Given the description of an element on the screen output the (x, y) to click on. 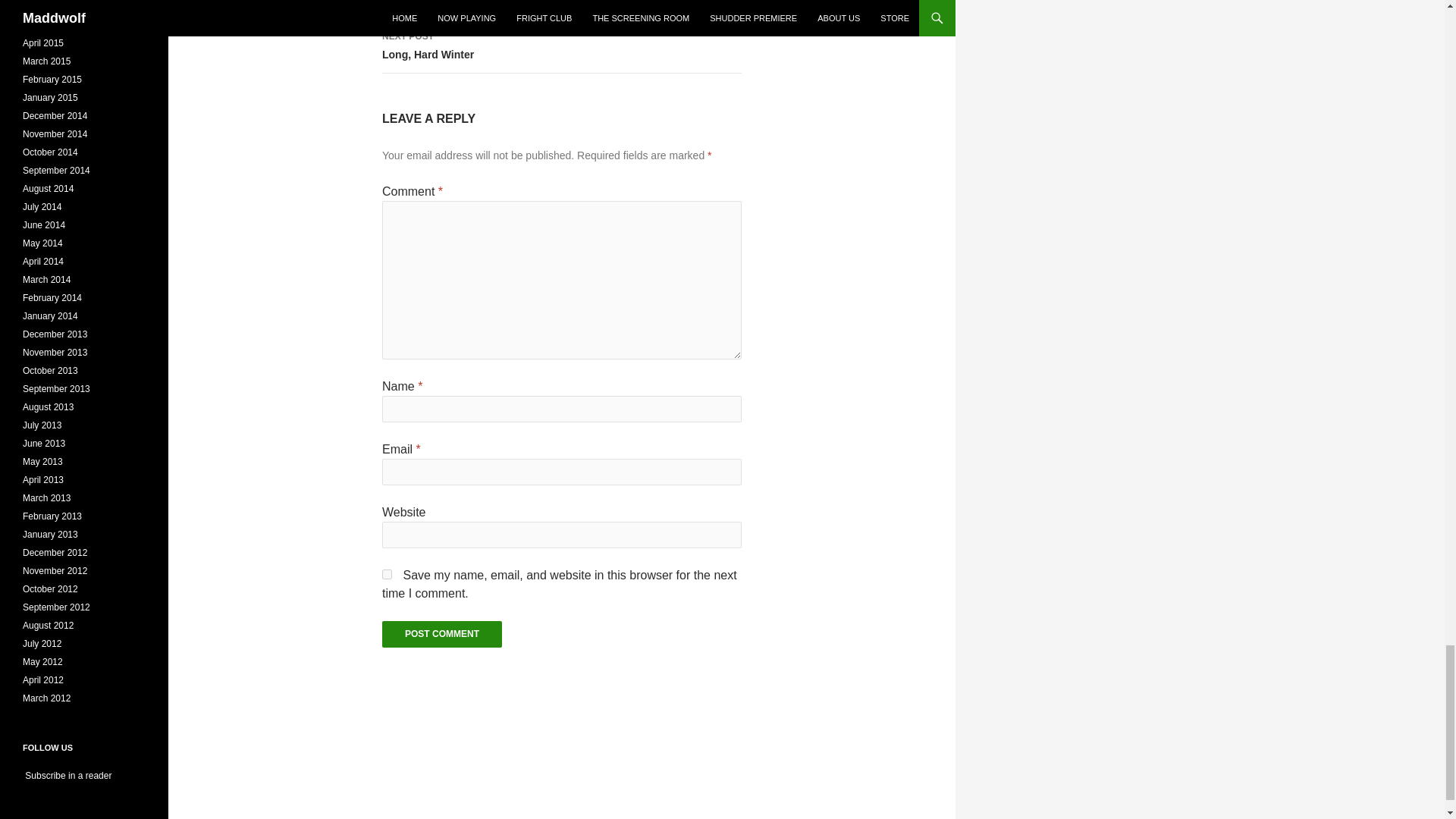
Post Comment (561, 9)
Subscribe to my feed (441, 633)
yes (67, 775)
Post Comment (386, 574)
